Given the description of an element on the screen output the (x, y) to click on. 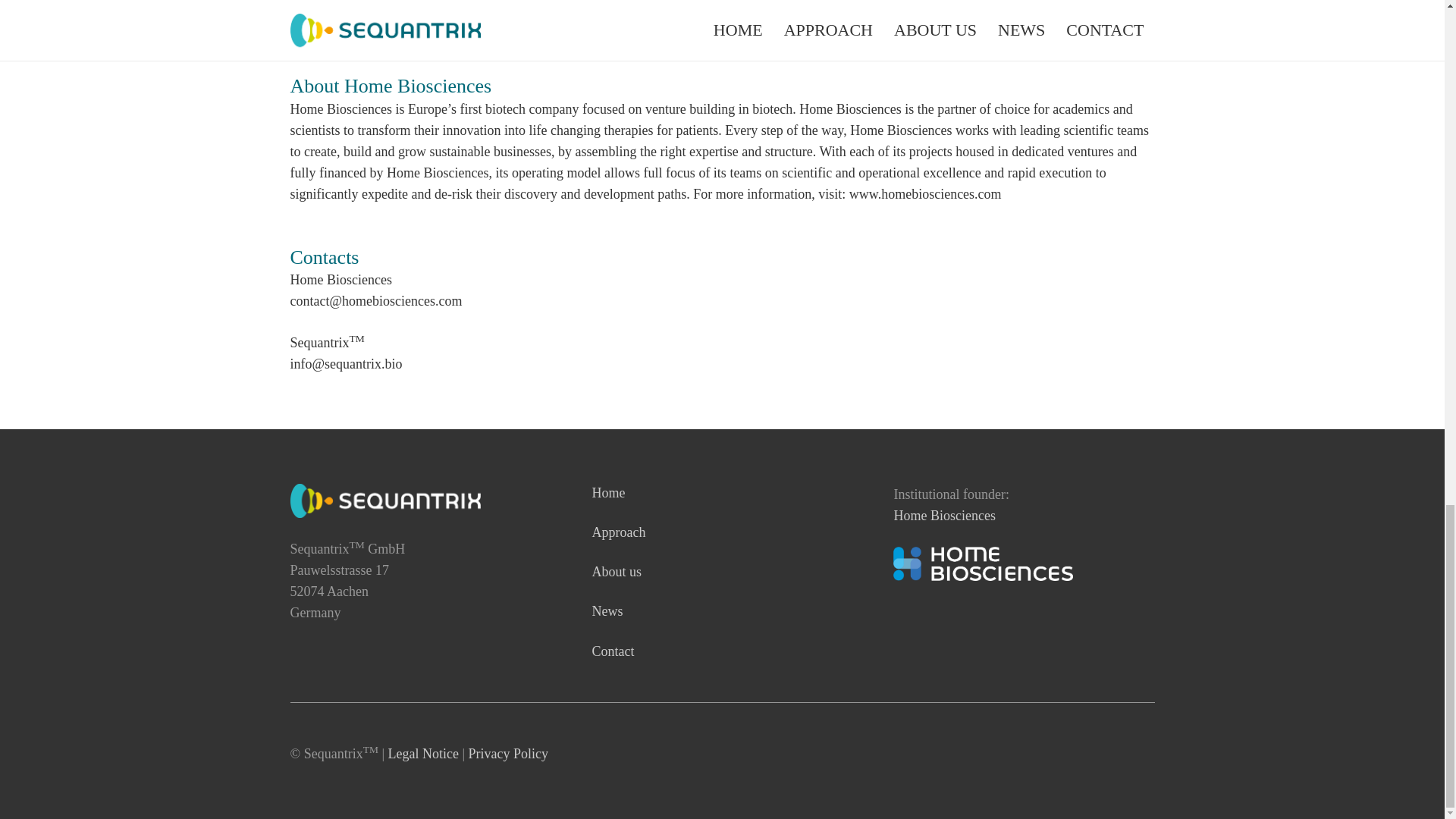
Contact (612, 651)
Privacy Policy (508, 753)
Approach (618, 531)
Home Biosciences (943, 515)
Legal Notice (423, 753)
About us (616, 571)
Home (607, 492)
News (607, 611)
